Given the description of an element on the screen output the (x, y) to click on. 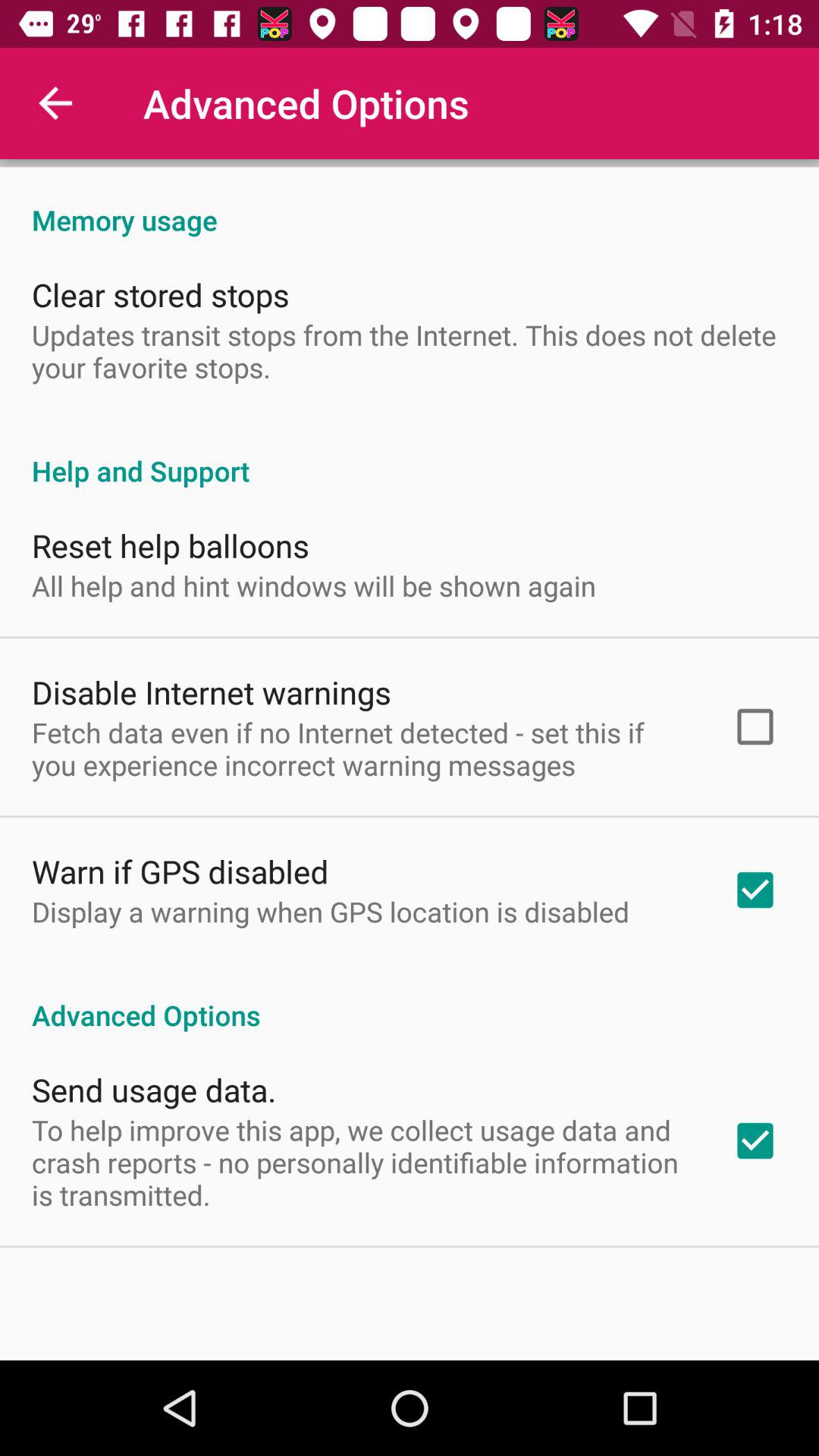
swipe to the to help improve icon (361, 1162)
